Given the description of an element on the screen output the (x, y) to click on. 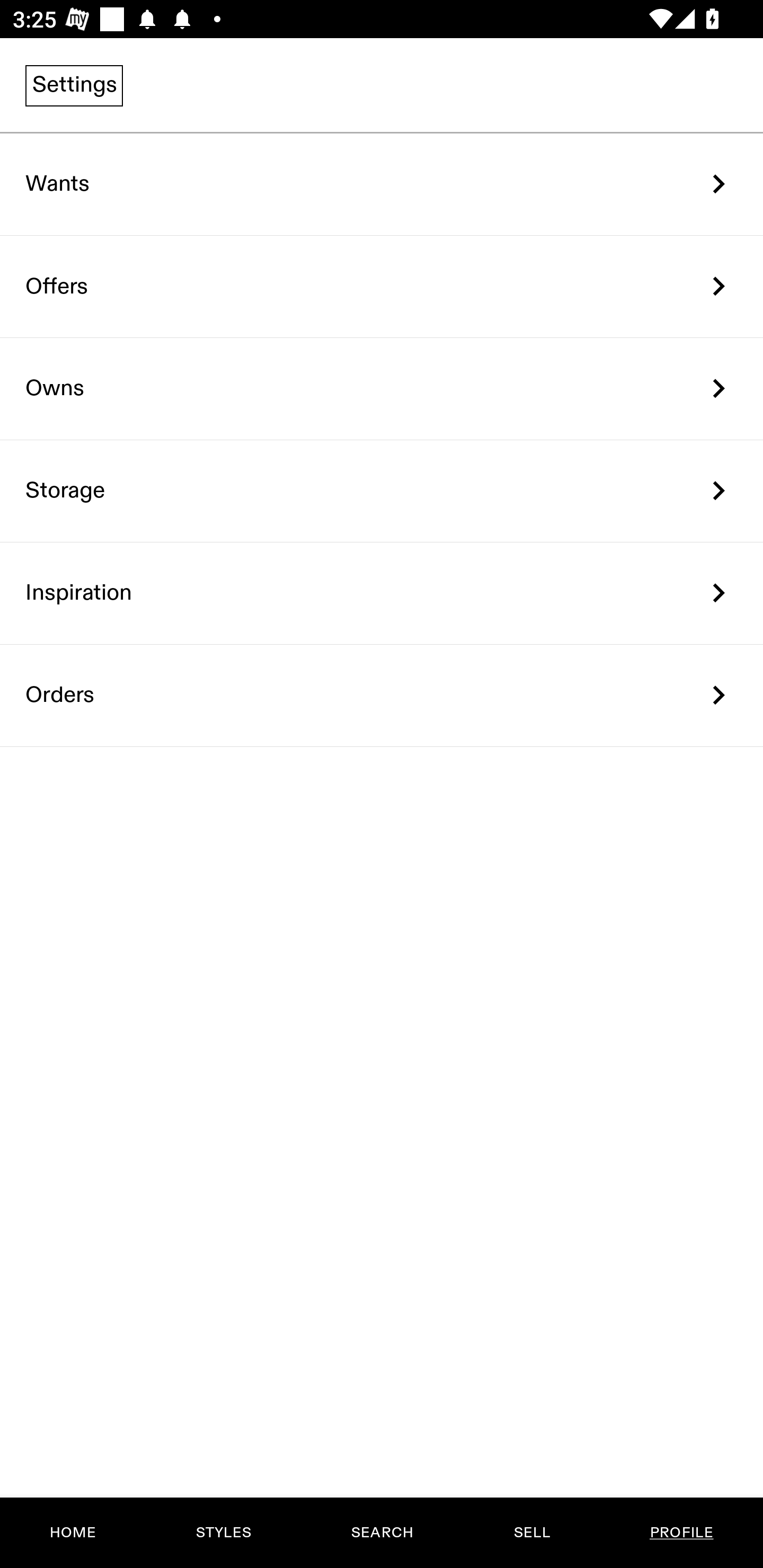
Settings (73, 85)
Wants (381, 184)
Offers (381, 286)
Owns (381, 388)
Storage (381, 491)
Inspiration (381, 593)
Orders (381, 695)
HOME (72, 1532)
STYLES (222, 1532)
SEARCH (381, 1532)
SELL (531, 1532)
PROFILE (681, 1532)
